Given the description of an element on the screen output the (x, y) to click on. 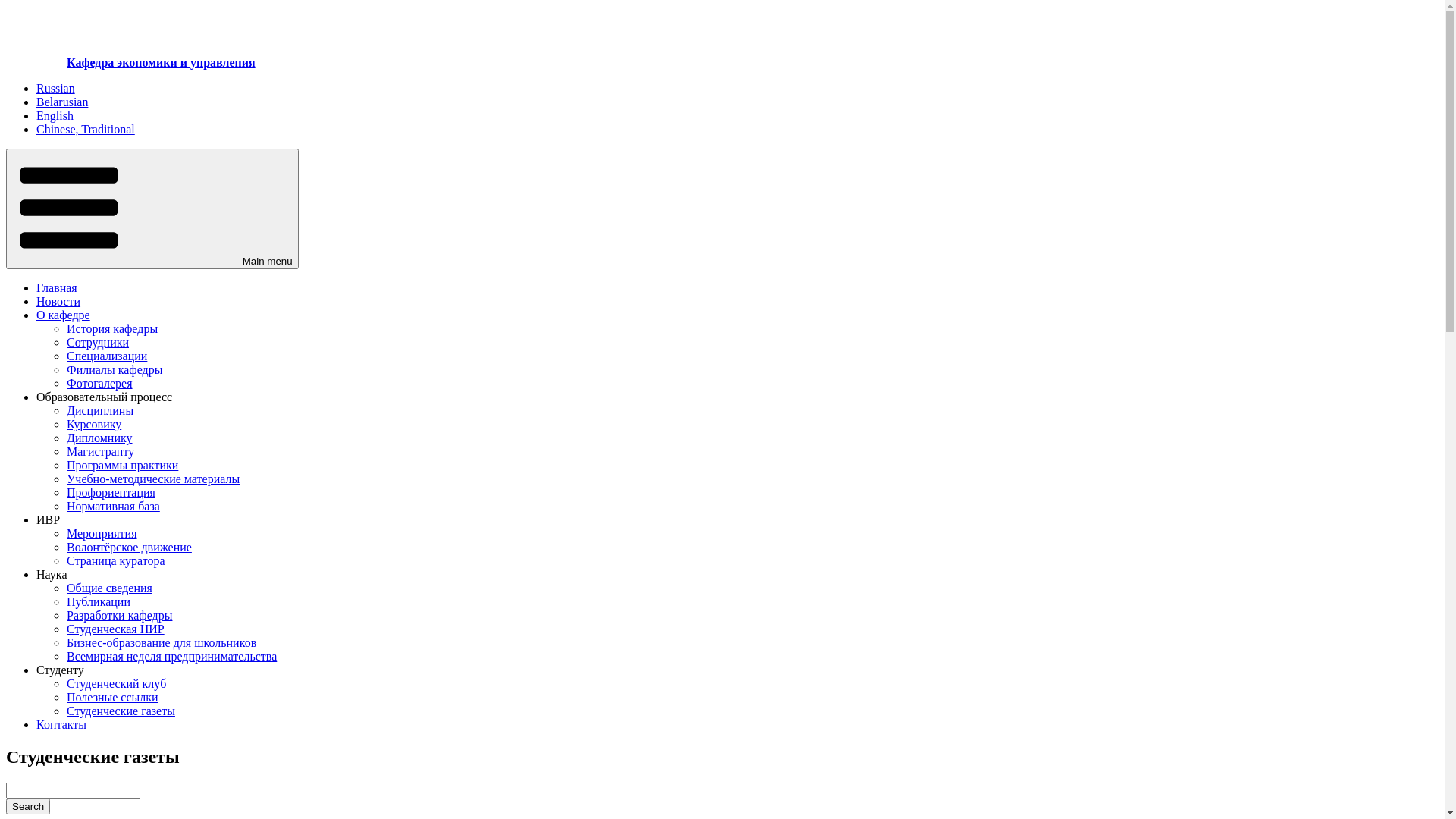
Belarusian Element type: text (61, 101)
Chinese, Traditional Element type: text (85, 128)
Main menu Element type: text (152, 208)
Search Element type: text (28, 806)
Russian Element type: text (55, 87)
English Element type: text (54, 115)
